Given the description of an element on the screen output the (x, y) to click on. 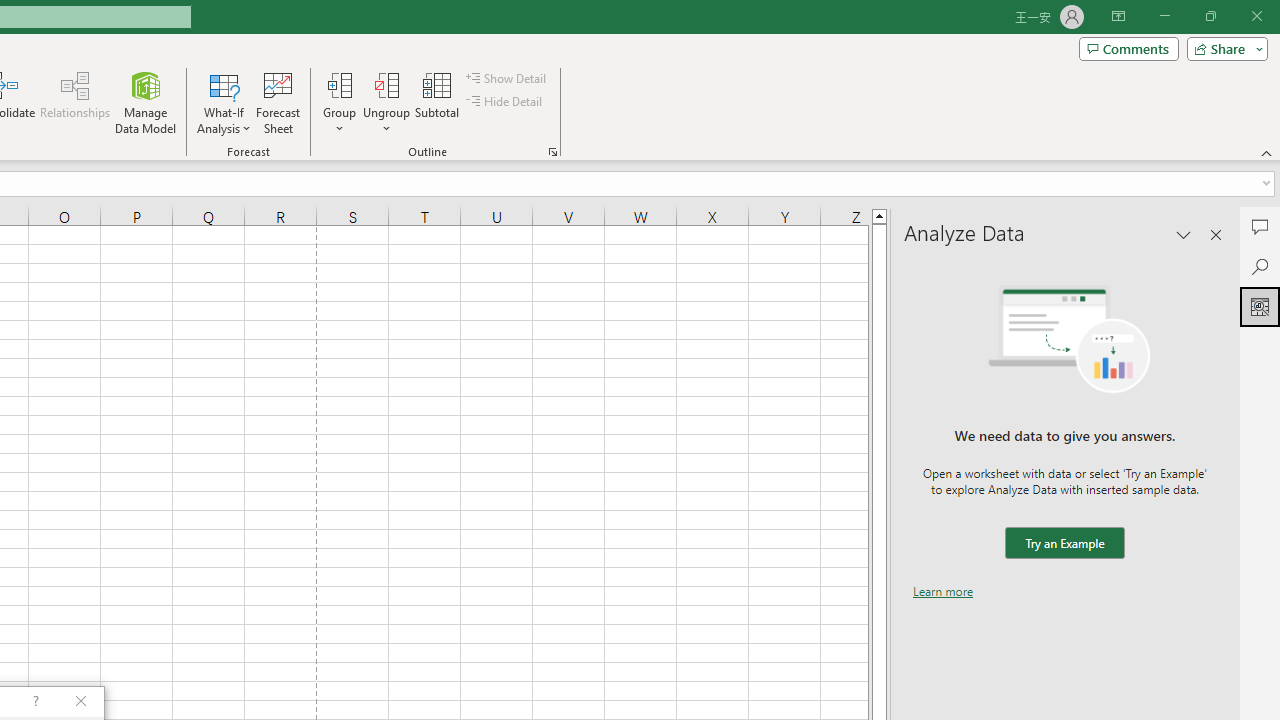
Group... (339, 84)
Relationships (75, 102)
What-If Analysis (223, 102)
Analyze Data (1260, 306)
Learn more (943, 591)
Hide Detail (505, 101)
Close pane (1215, 234)
Task Pane Options (1183, 234)
Ungroup... (386, 102)
Show Detail (507, 78)
